Given the description of an element on the screen output the (x, y) to click on. 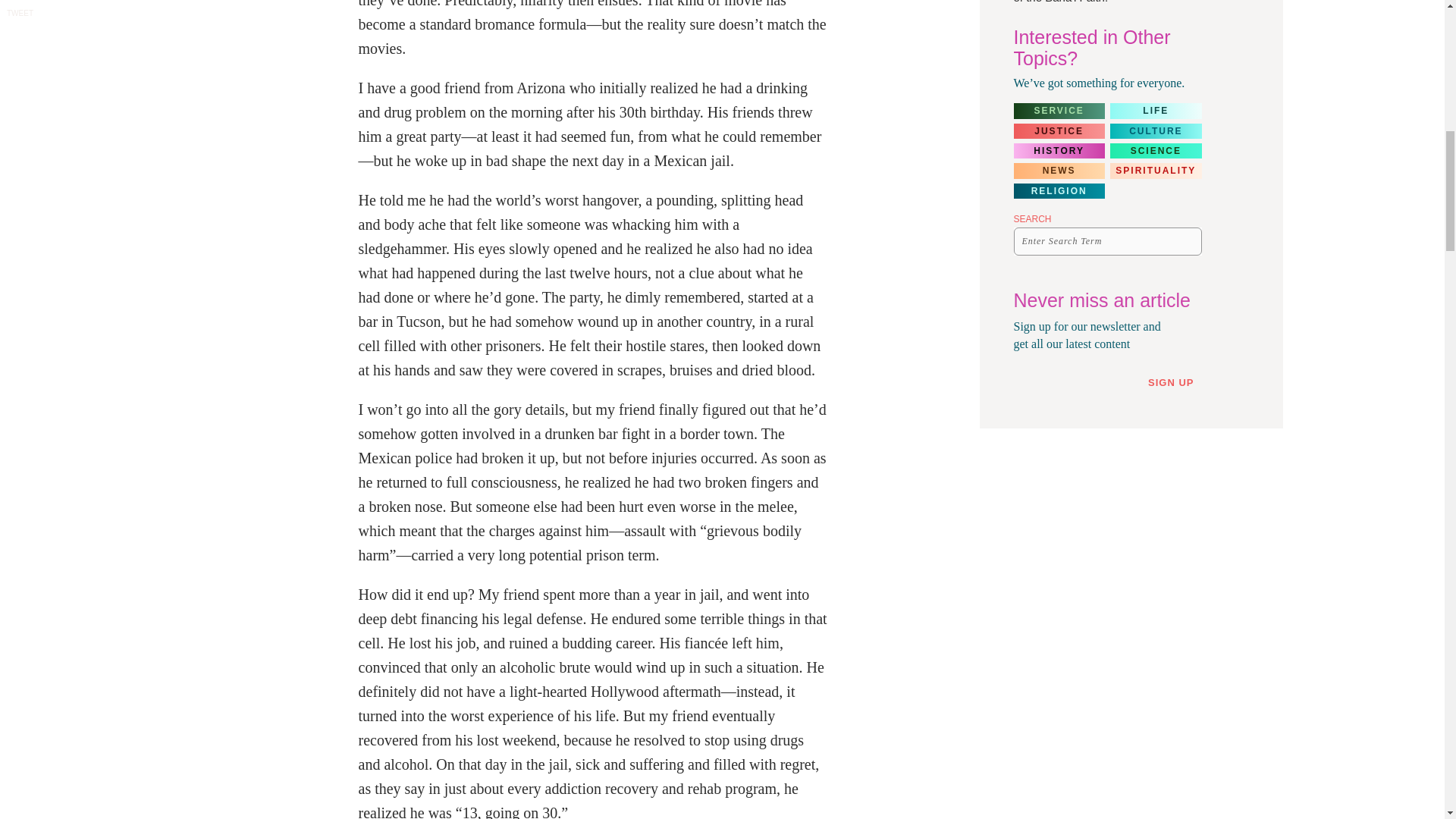
CULTURE (1155, 130)
SIGN UP (1176, 382)
Search (1185, 241)
LIFE (1155, 110)
HISTORY (1058, 150)
SPIRITUALITY (1155, 170)
JUSTICE (1058, 130)
SERVICE (1058, 110)
RELIGION (1058, 191)
NEWS (1058, 170)
